Given the description of an element on the screen output the (x, y) to click on. 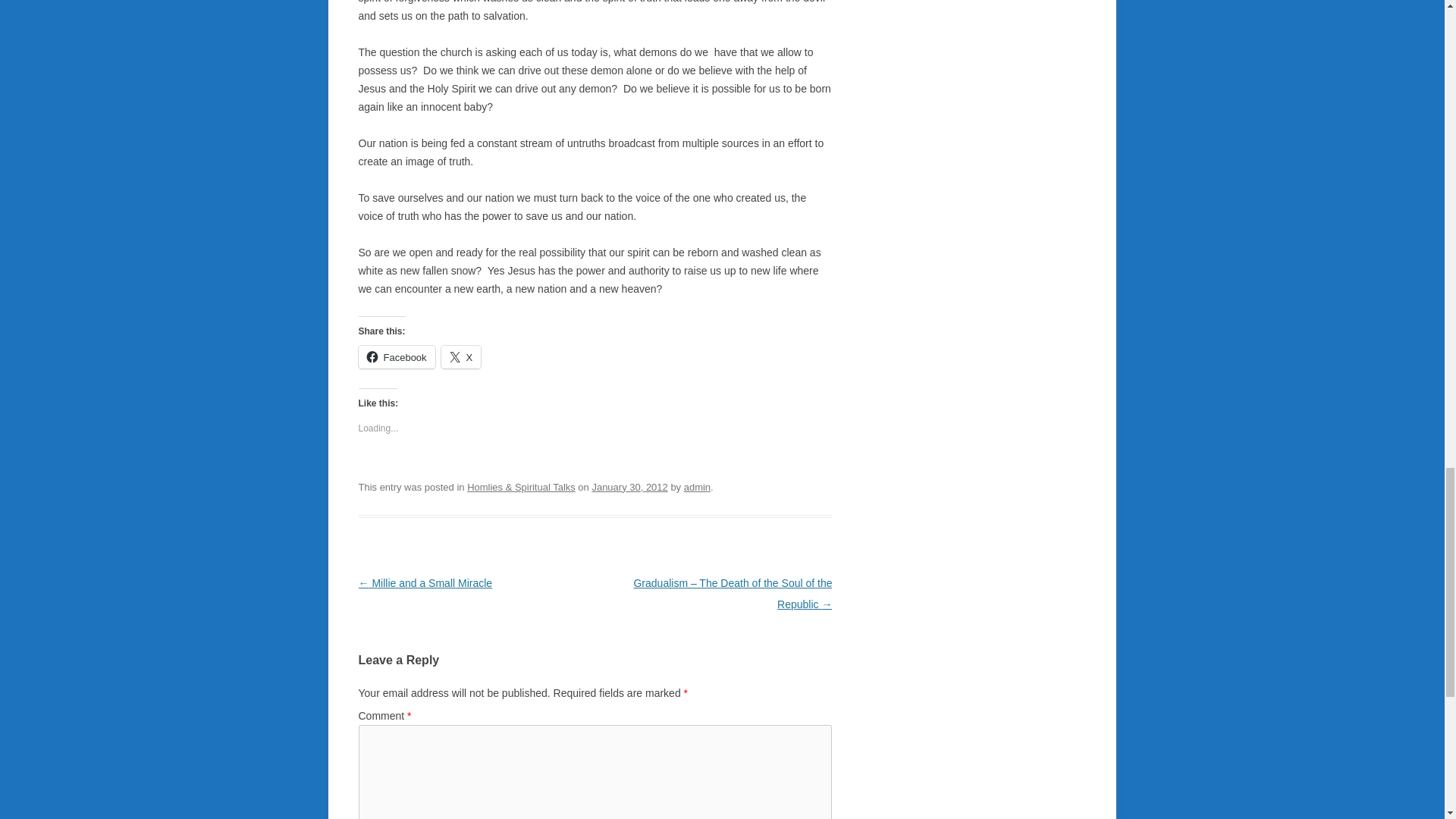
January 30, 2012 (628, 487)
19:06 (628, 487)
Click to share on X (461, 356)
admin (697, 487)
X (461, 356)
Facebook (395, 356)
View all posts by admin (697, 487)
Click to share on Facebook (395, 356)
